Given the description of an element on the screen output the (x, y) to click on. 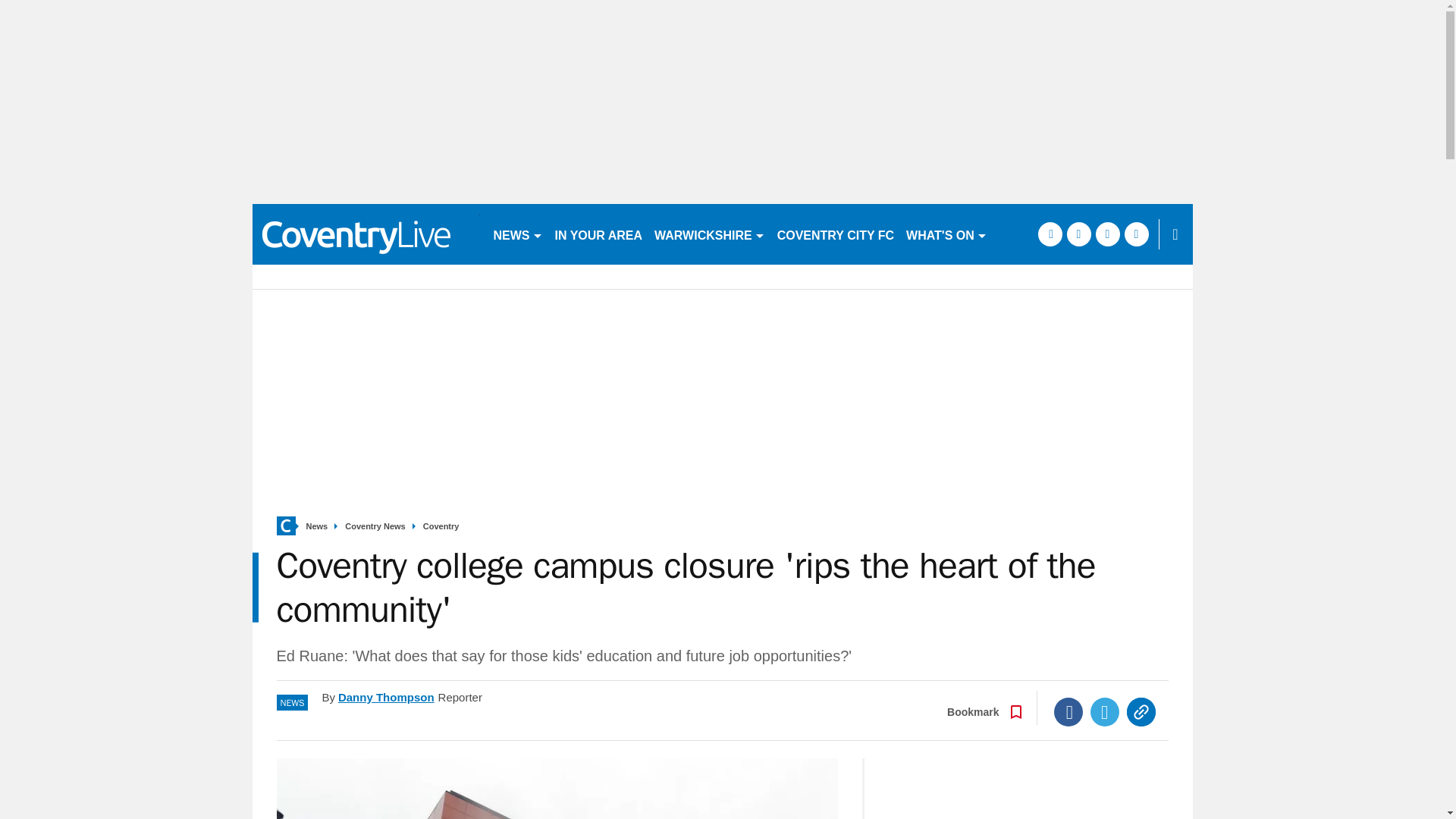
Facebook (1068, 711)
COVENTRY CITY FC (835, 233)
twitter (1077, 233)
WARWICKSHIRE (709, 233)
facebook (1048, 233)
IN YOUR AREA (598, 233)
NEWS (517, 233)
coventrytelegraph (365, 233)
WHAT'S ON (945, 233)
Twitter (1104, 711)
